Given the description of an element on the screen output the (x, y) to click on. 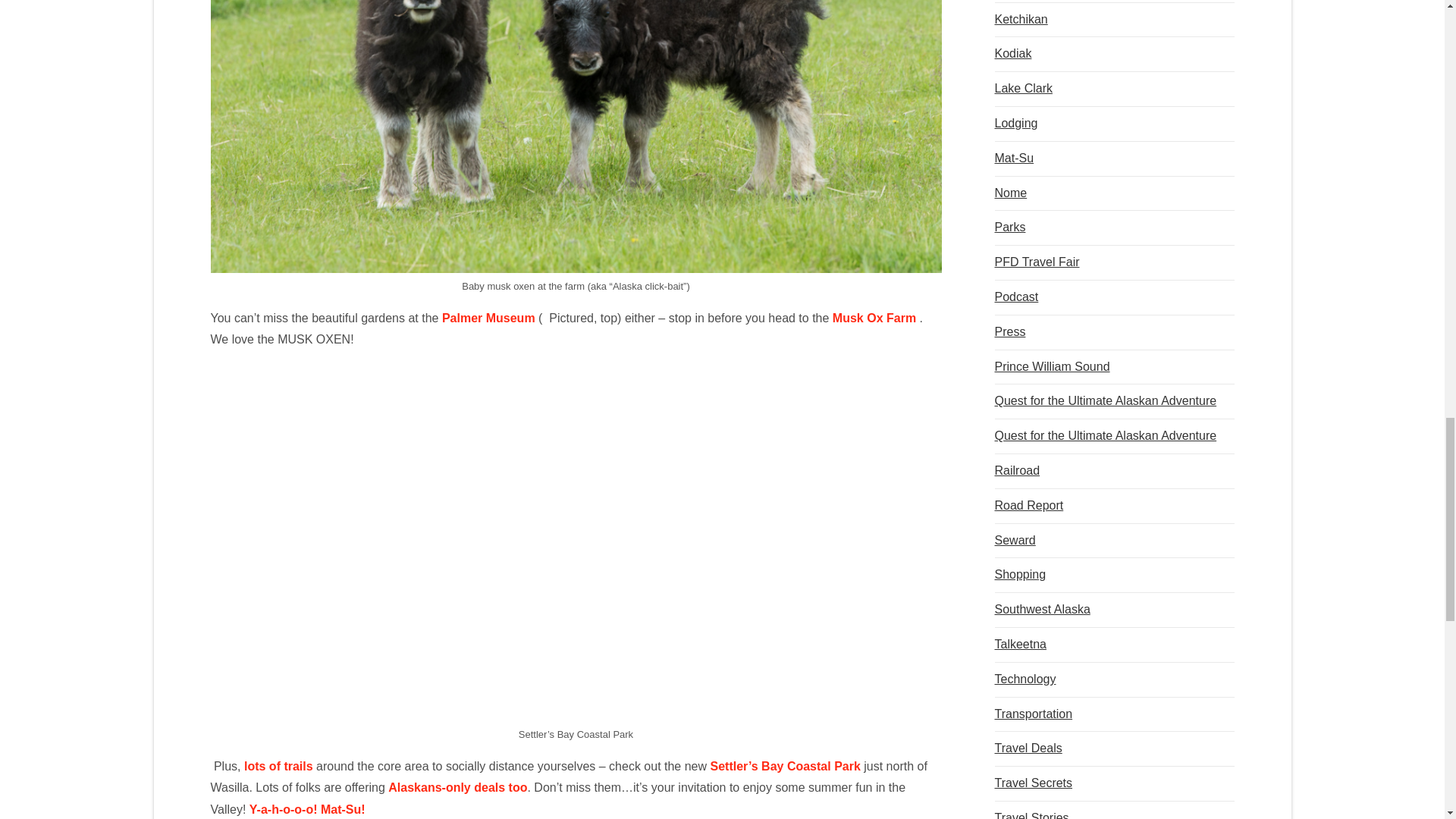
Musk Ox Farm (873, 318)
Palmer Museum (488, 318)
Alaskans-only deals too (457, 787)
lots of trails (279, 766)
Y-a-h-o-o-o! Mat-Su! (306, 809)
